Given the description of an element on the screen output the (x, y) to click on. 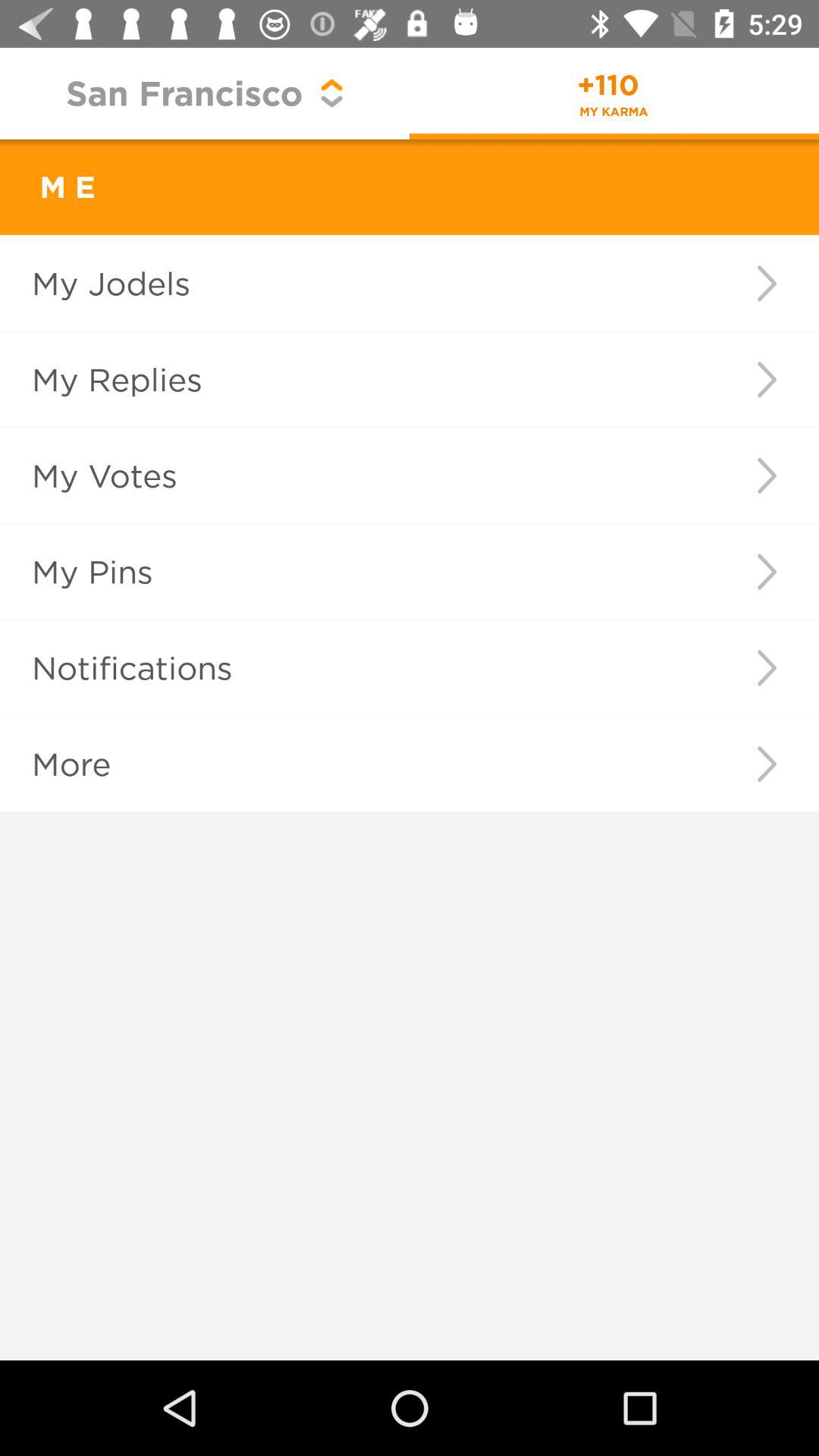
tap icon to the right of my votes item (766, 475)
